Given the description of an element on the screen output the (x, y) to click on. 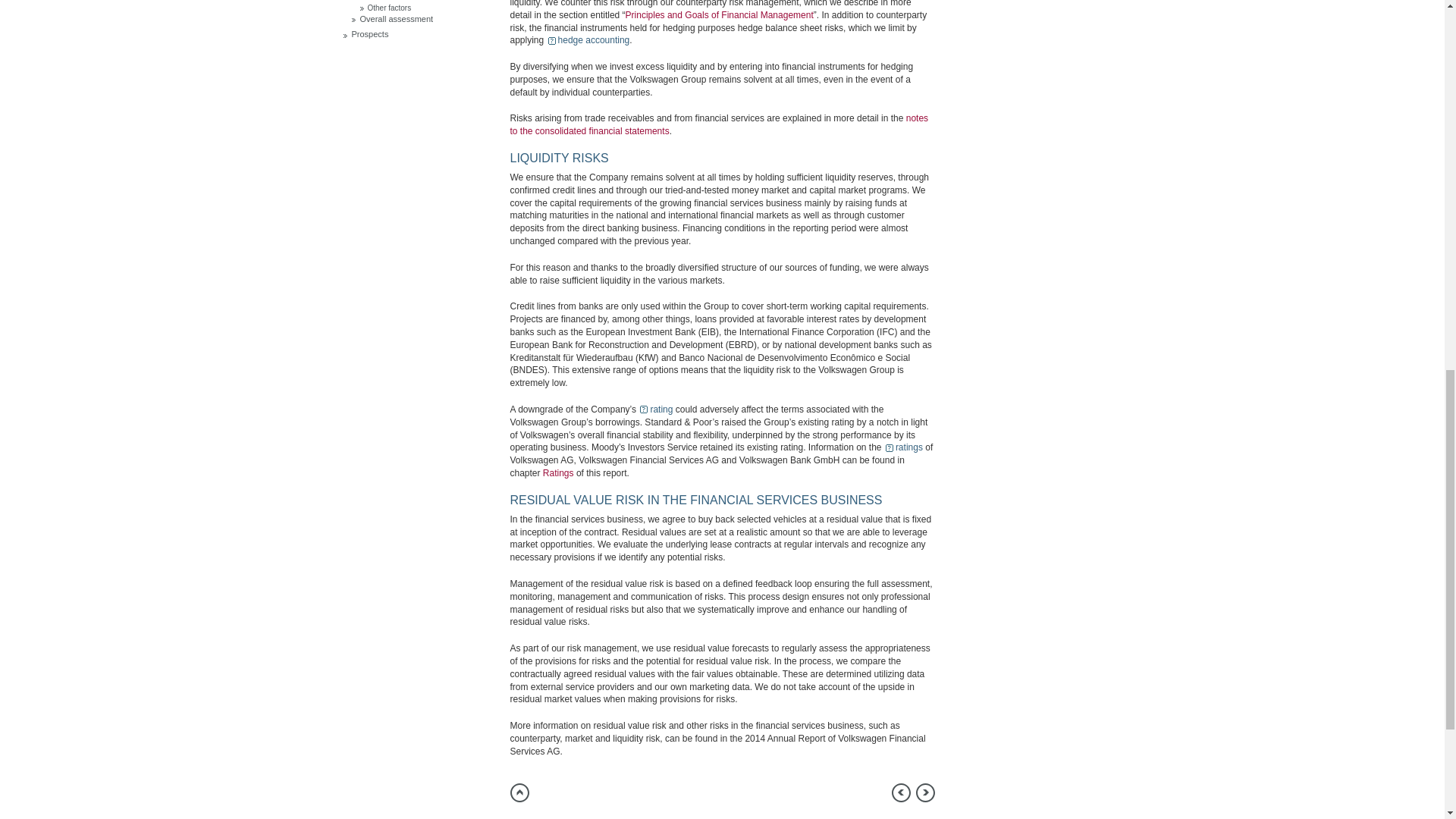
previous page: Litigation (901, 792)
next page: Other factors (924, 792)
